Given the description of an element on the screen output the (x, y) to click on. 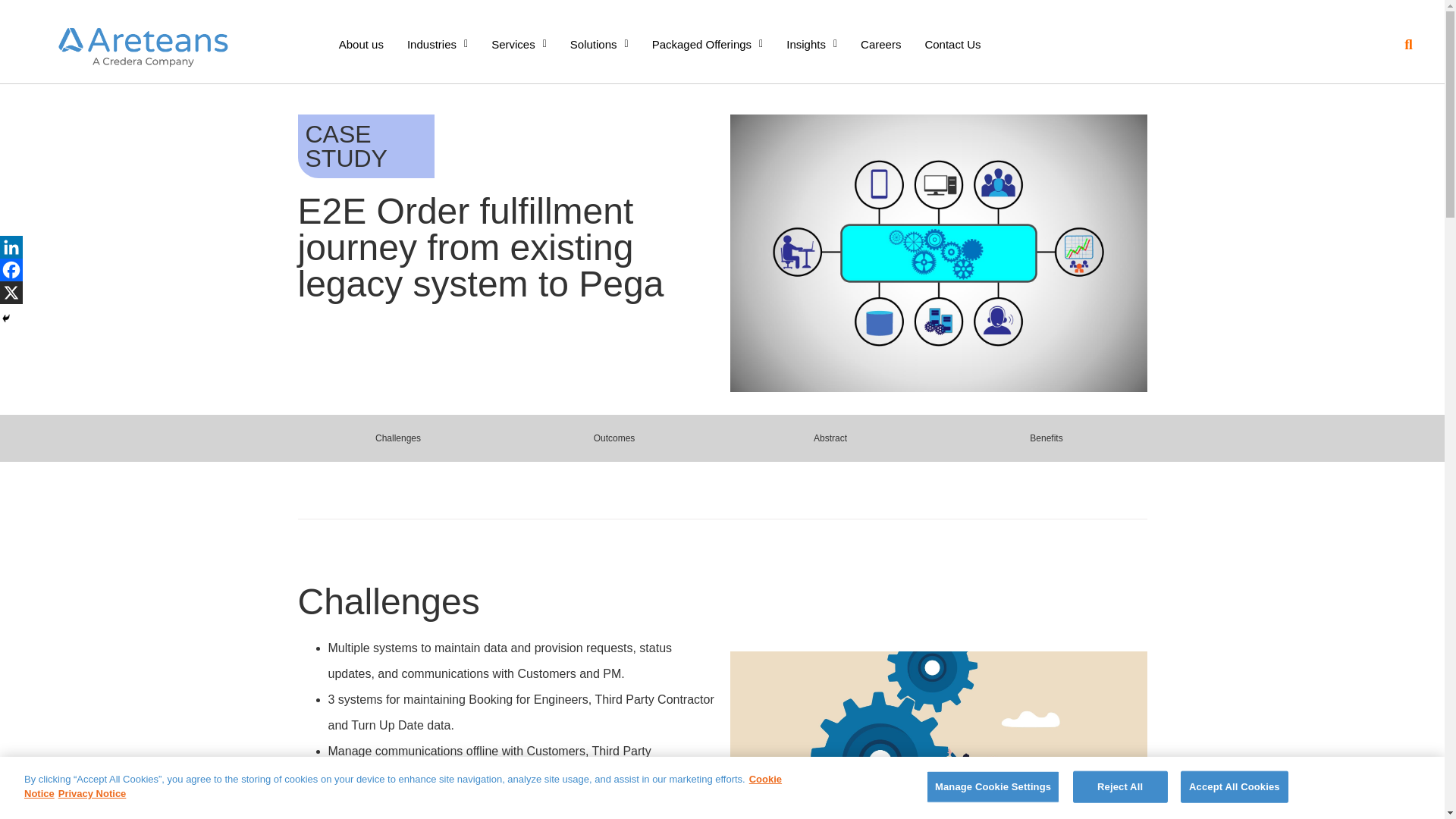
Insights (811, 44)
Outcomes (614, 438)
About us (361, 44)
Industries (437, 44)
Hide (5, 318)
Careers (880, 44)
Solutions (599, 44)
Services (518, 44)
X (11, 292)
Abstract (830, 438)
Packaged Offerings (707, 44)
Benefits (1045, 438)
Contact Us (952, 44)
Linkedin (11, 246)
Challenges (397, 438)
